Given the description of an element on the screen output the (x, y) to click on. 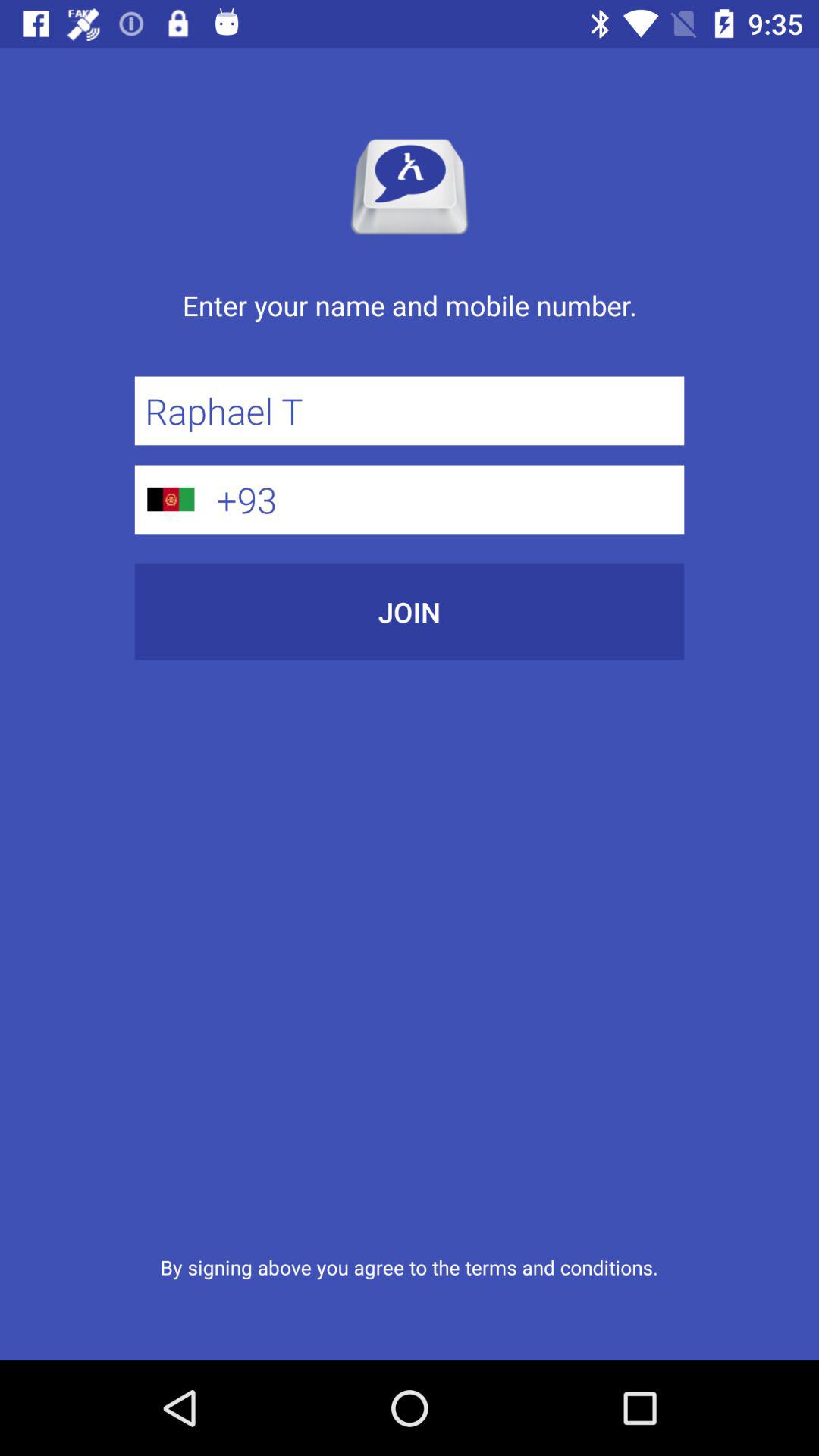
select the by signing above icon (409, 1267)
